Given the description of an element on the screen output the (x, y) to click on. 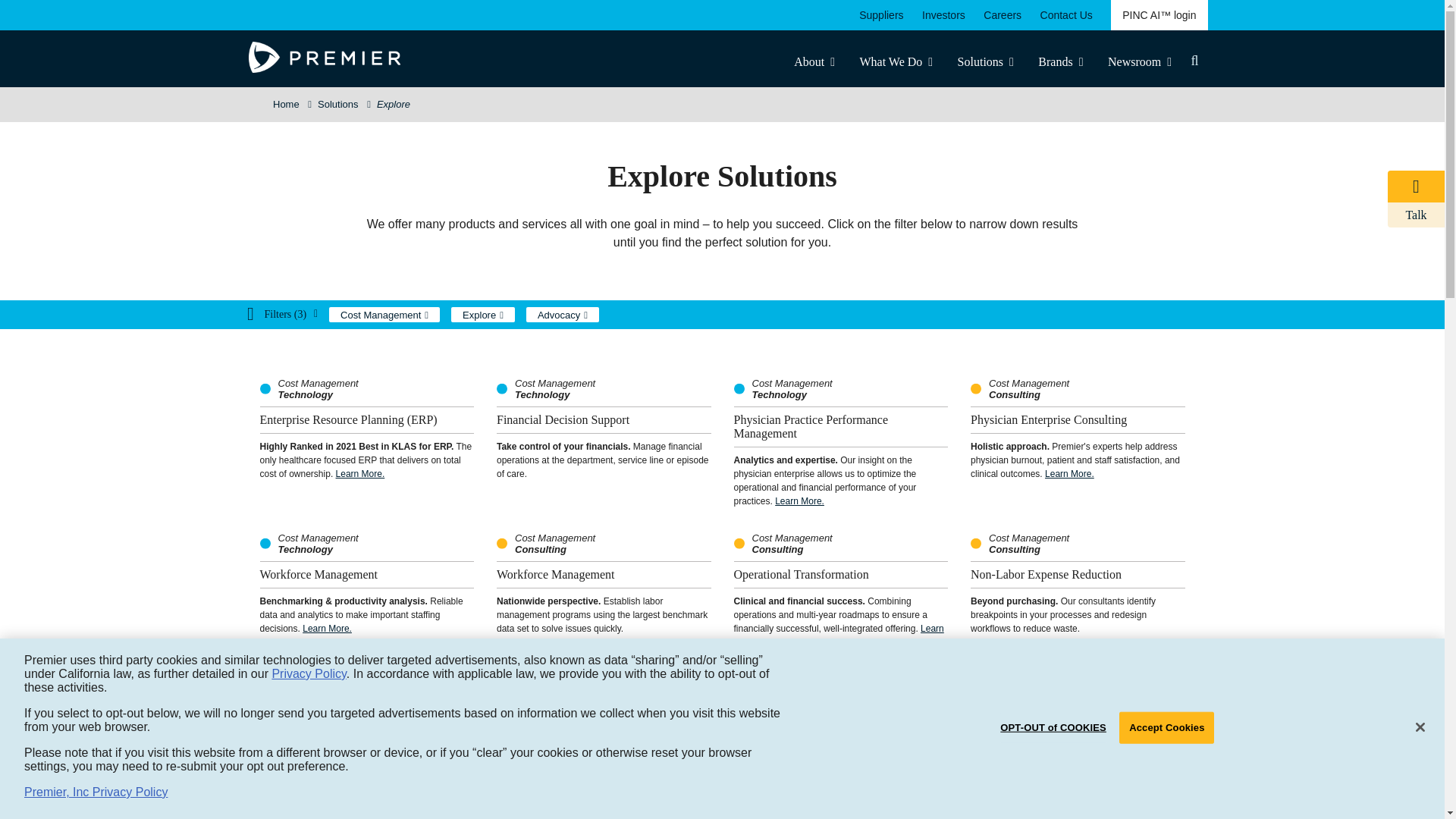
Contact Us (1067, 15)
What We Do (896, 61)
Solutions (985, 61)
Investors (943, 15)
About (813, 61)
Brands (1060, 61)
Careers (1003, 15)
Suppliers (880, 15)
